Given the description of an element on the screen output the (x, y) to click on. 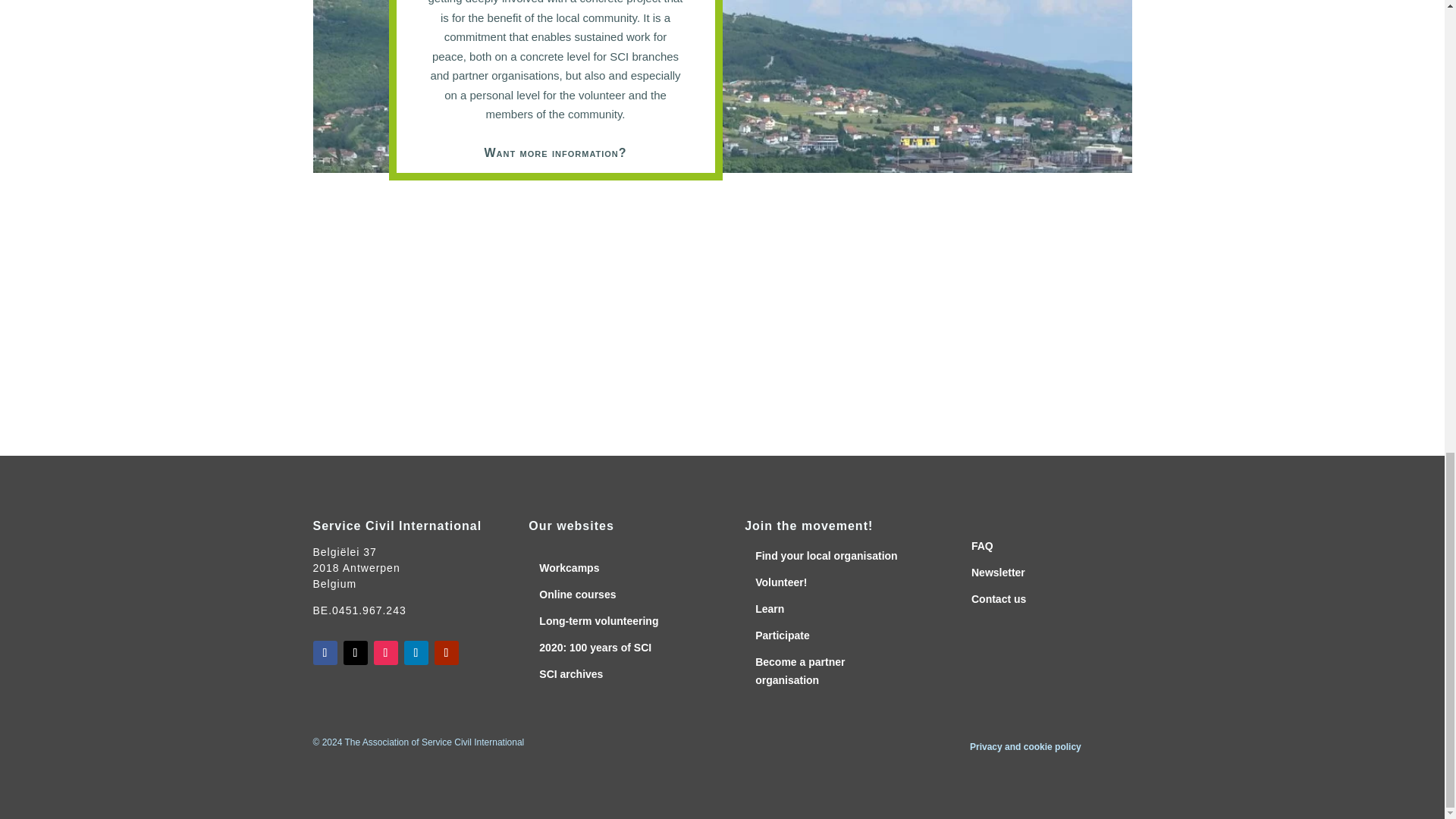
Follow on Youtube (445, 652)
Follow on Facebook (324, 652)
Follow on Instagram (384, 652)
Follow on LinkedIn (415, 652)
Follow on X (354, 652)
